Given the description of an element on the screen output the (x, y) to click on. 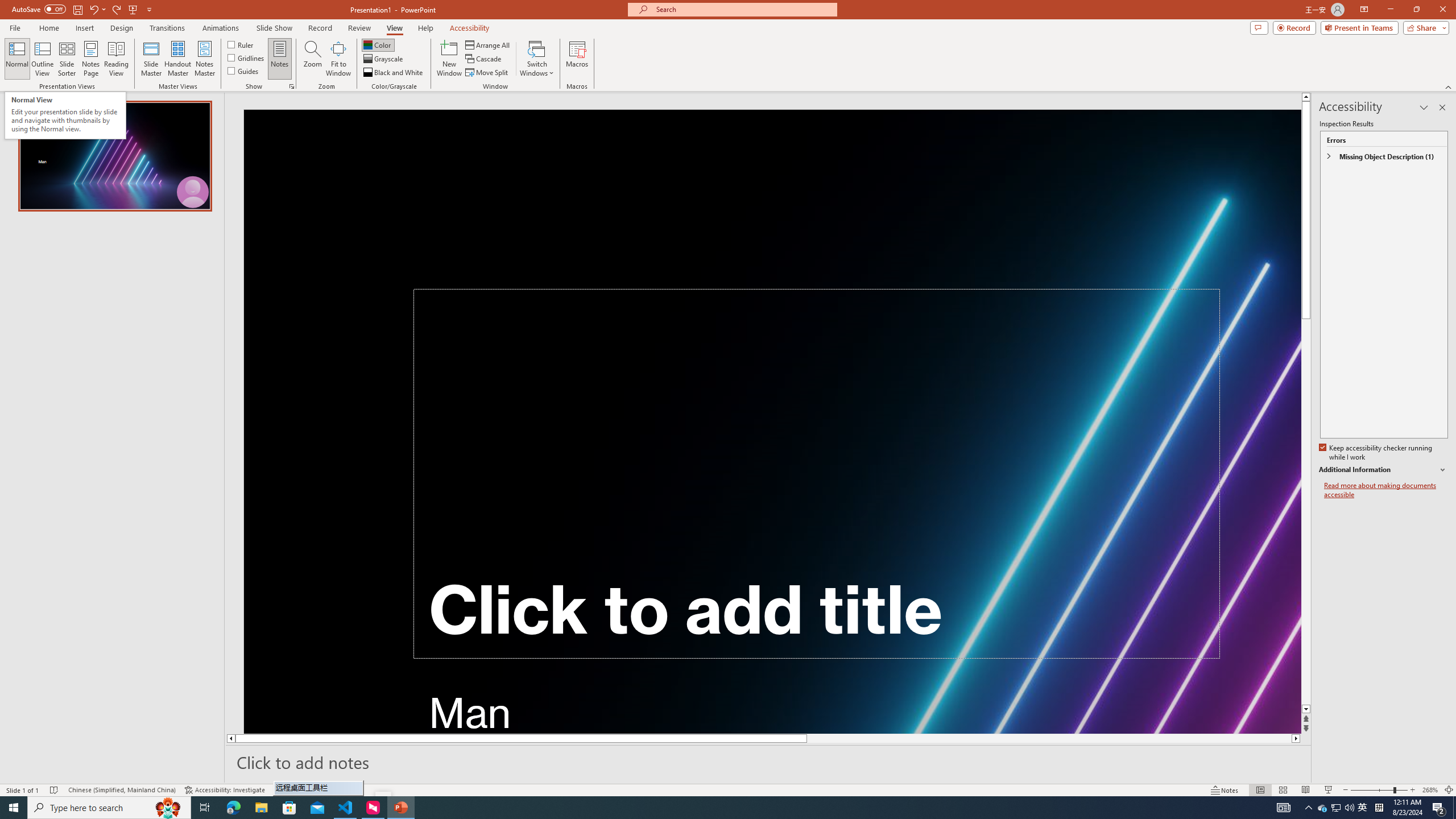
Slide Master (151, 58)
Handout Master (177, 58)
Black and White (393, 72)
Neon laser lights aligned to form a triangle (772, 421)
